Given the description of an element on the screen output the (x, y) to click on. 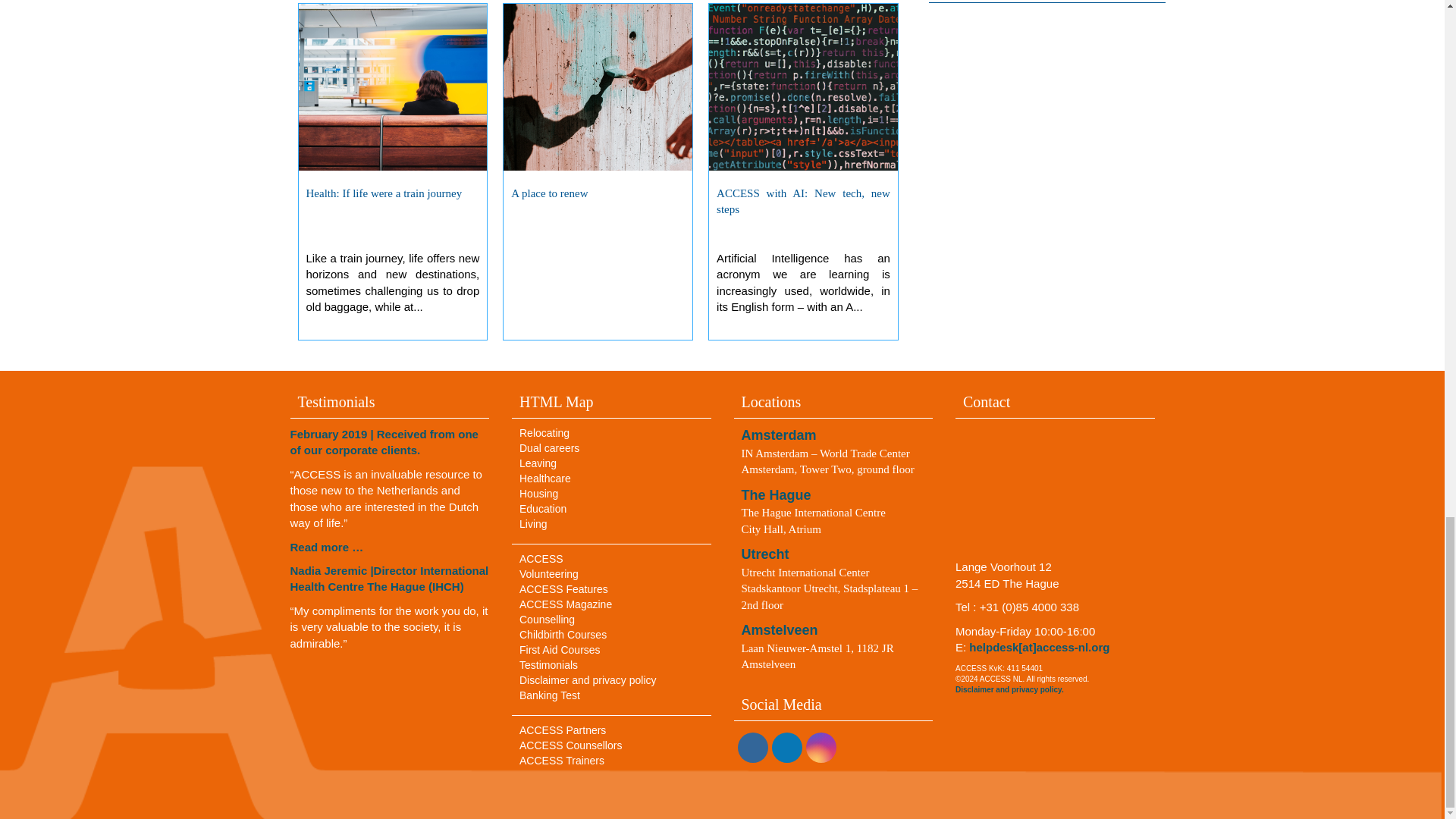
LinkedIn (785, 747)
Relocating (544, 432)
Facebook (752, 747)
Instagram (820, 747)
